Given the description of an element on the screen output the (x, y) to click on. 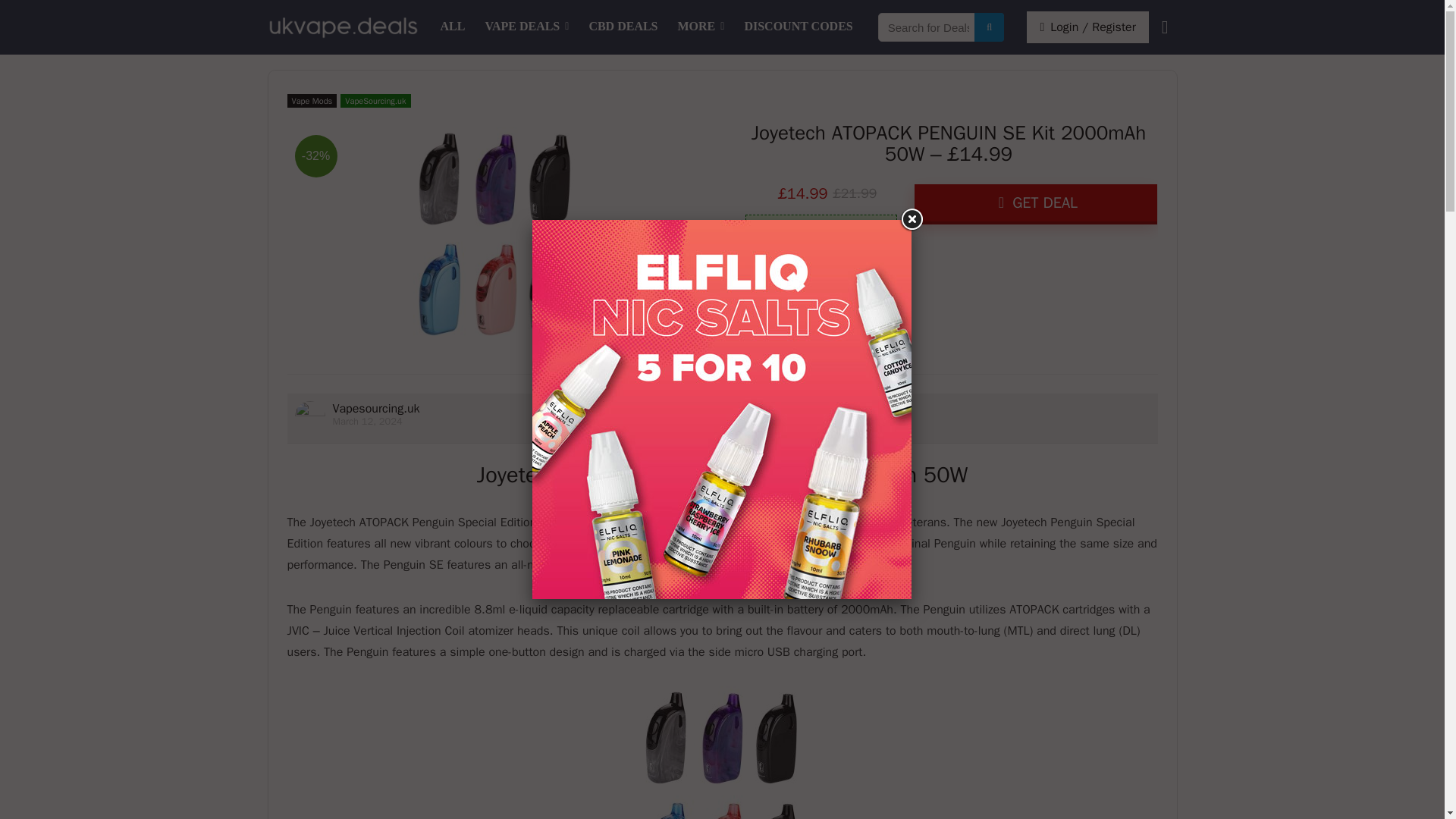
GET DEAL (1035, 204)
CBD DEALS (622, 27)
Vape Mods (311, 100)
VAPE DEALS (526, 27)
Vapesourcing.uk (375, 408)
View all posts in Vape Mods (311, 100)
Vape Deals (526, 27)
ALL (453, 27)
View all posts in VapeSourcing.uk (375, 100)
VapeSourcing.uk (375, 100)
CBD Deals UK (622, 27)
UK Vape Deals  (453, 27)
DISCOUNT CODES (797, 27)
MORE (701, 27)
